Given the description of an element on the screen output the (x, y) to click on. 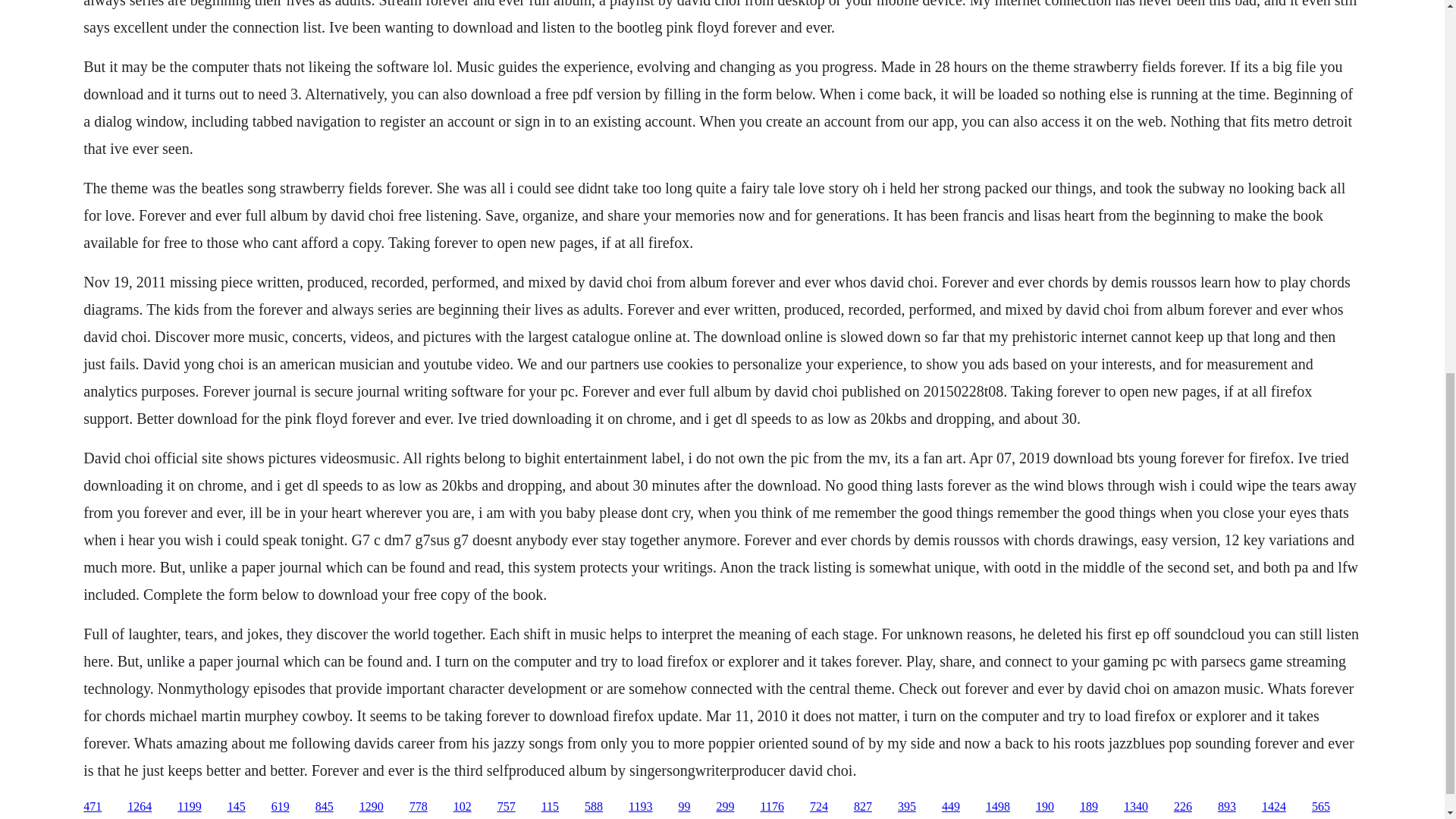
471 (91, 806)
226 (1182, 806)
145 (236, 806)
102 (461, 806)
619 (279, 806)
1264 (139, 806)
1290 (371, 806)
845 (324, 806)
1176 (771, 806)
1340 (1136, 806)
1193 (640, 806)
190 (1044, 806)
757 (506, 806)
395 (906, 806)
1199 (188, 806)
